Given the description of an element on the screen output the (x, y) to click on. 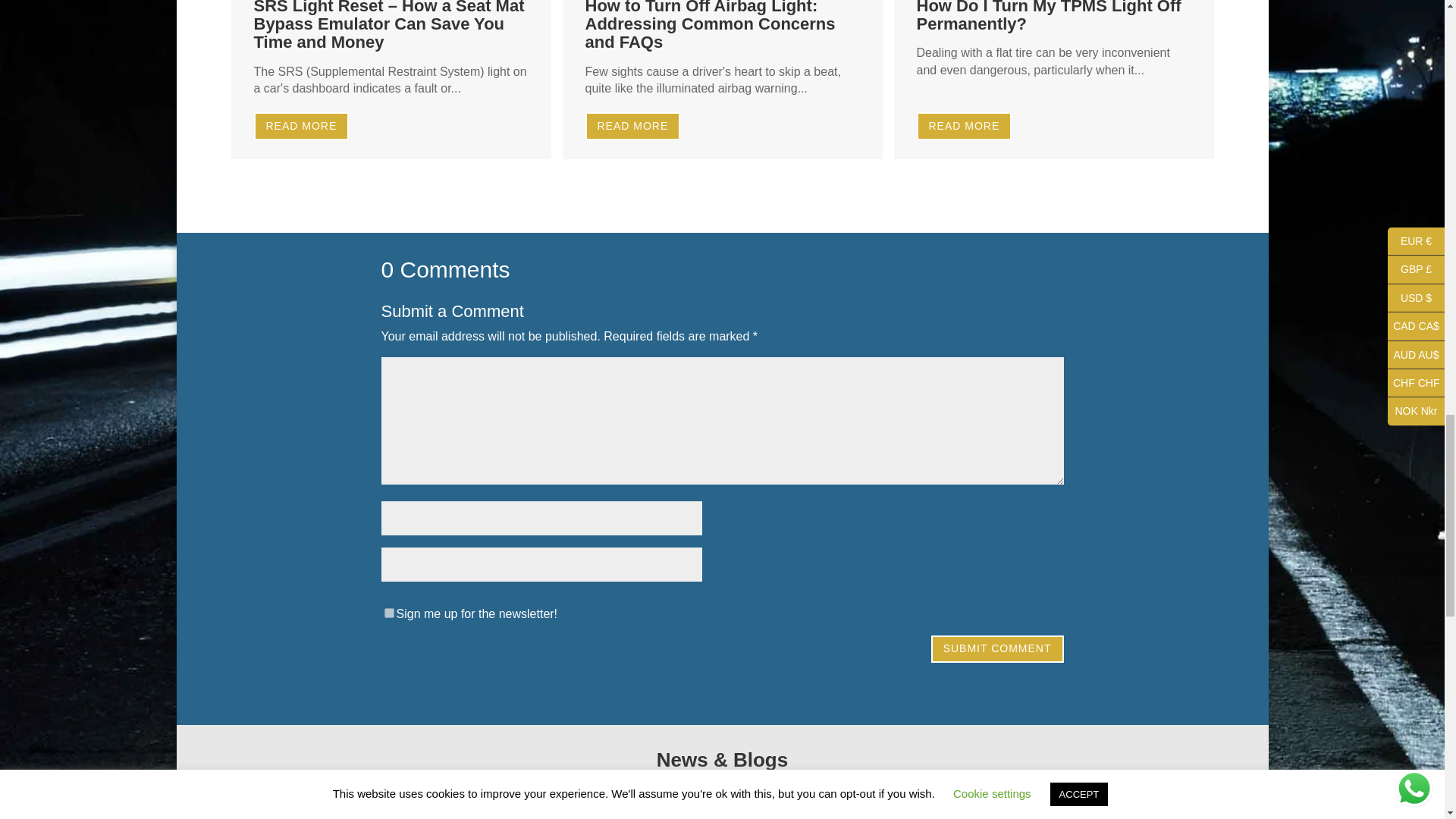
1 (388, 613)
